Given the description of an element on the screen output the (x, y) to click on. 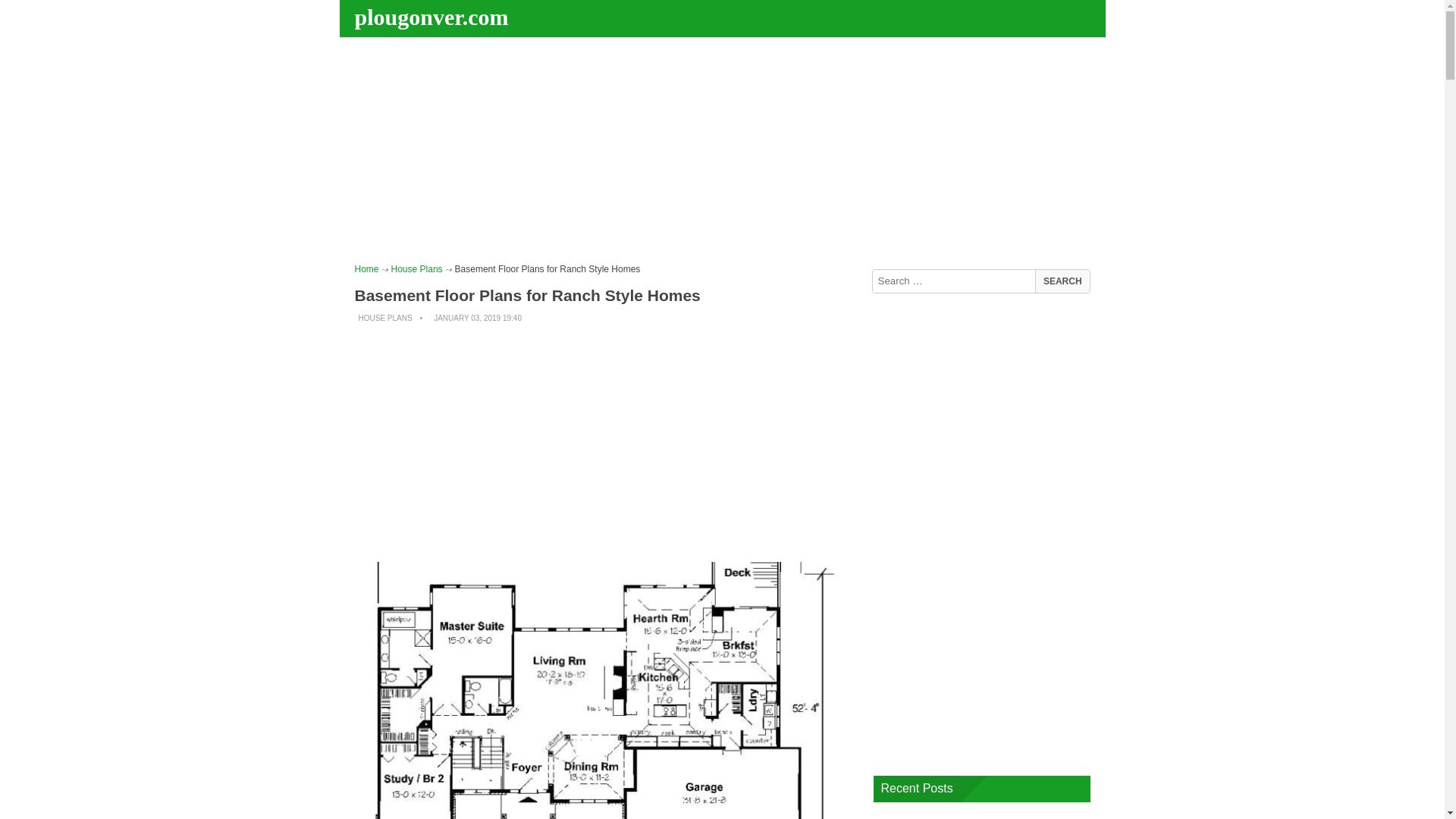
Advertisement (607, 443)
Search (1062, 281)
House Plans (416, 268)
Home (366, 268)
plougonver.com (433, 16)
HOUSE PLANS (385, 317)
Search (1062, 281)
